Given the description of an element on the screen output the (x, y) to click on. 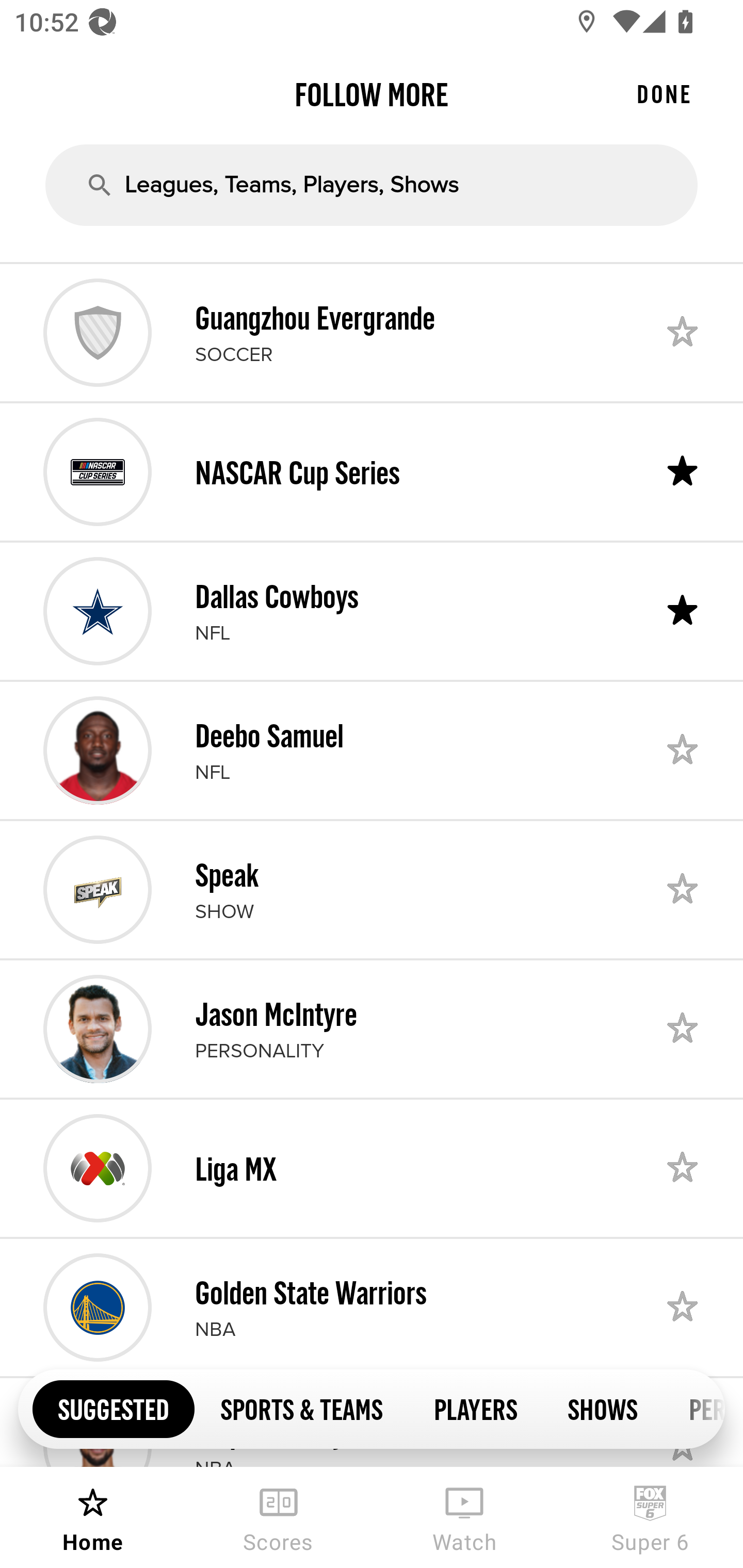
DONE (663, 93)
Leagues, Teams, Players, Shows (371, 184)
Guangzhou Evergrande SOCCER (371, 332)
NASCAR Cup Series (371, 471)
Dallas Cowboys NFL (371, 611)
Deebo Samuel NFL (371, 750)
Speak SHOW (371, 889)
Jason McIntyre PERSONALITY (371, 1028)
Liga MX (371, 1168)
Golden State Warriors NBA (371, 1307)
SPORTS & TEAMS (300, 1408)
PLAYERS (474, 1408)
SHOWS (602, 1408)
Scores (278, 1517)
Watch (464, 1517)
Super 6 (650, 1517)
